Given the description of an element on the screen output the (x, y) to click on. 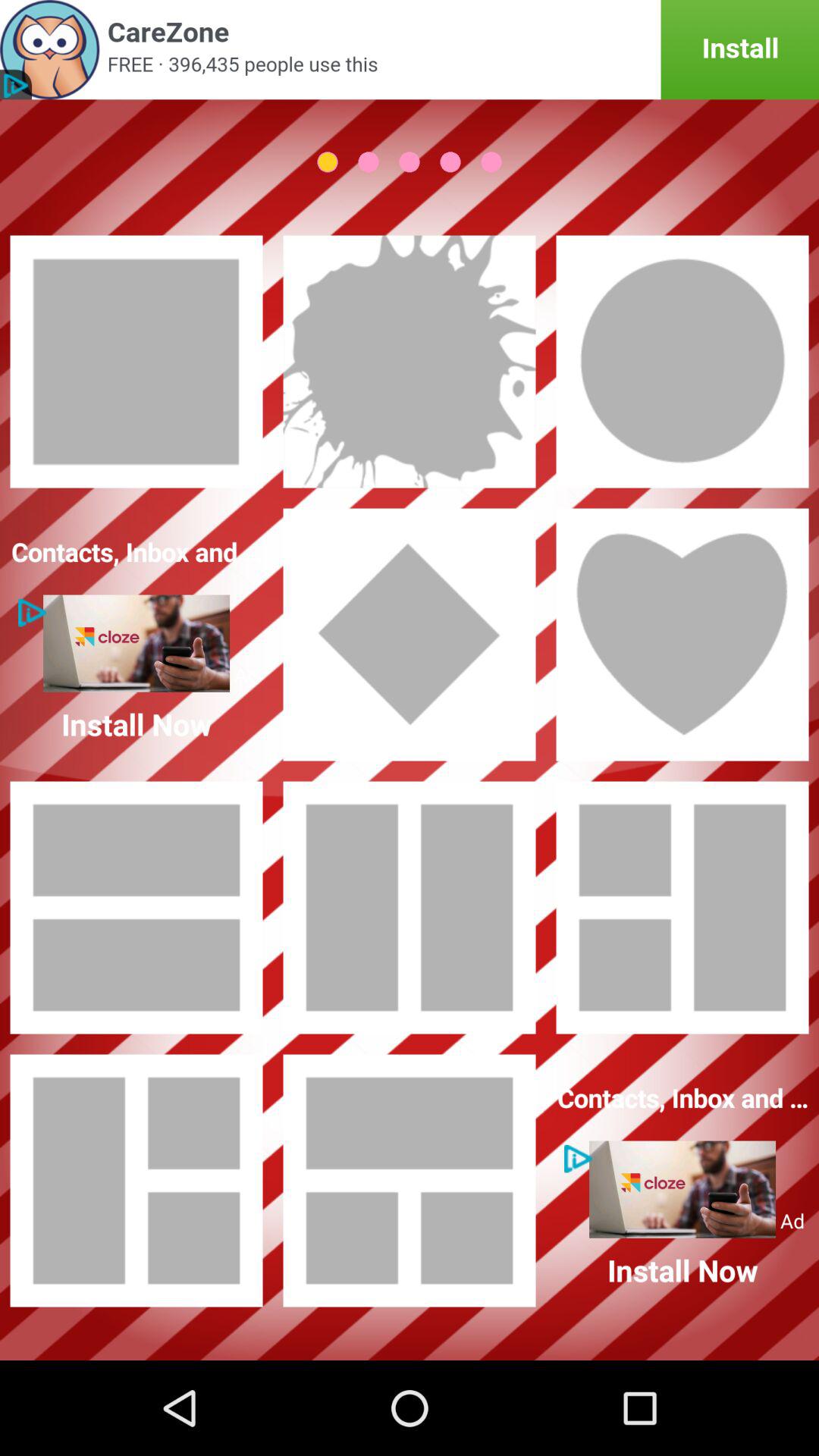
2 column collage (409, 907)
